Given the description of an element on the screen output the (x, y) to click on. 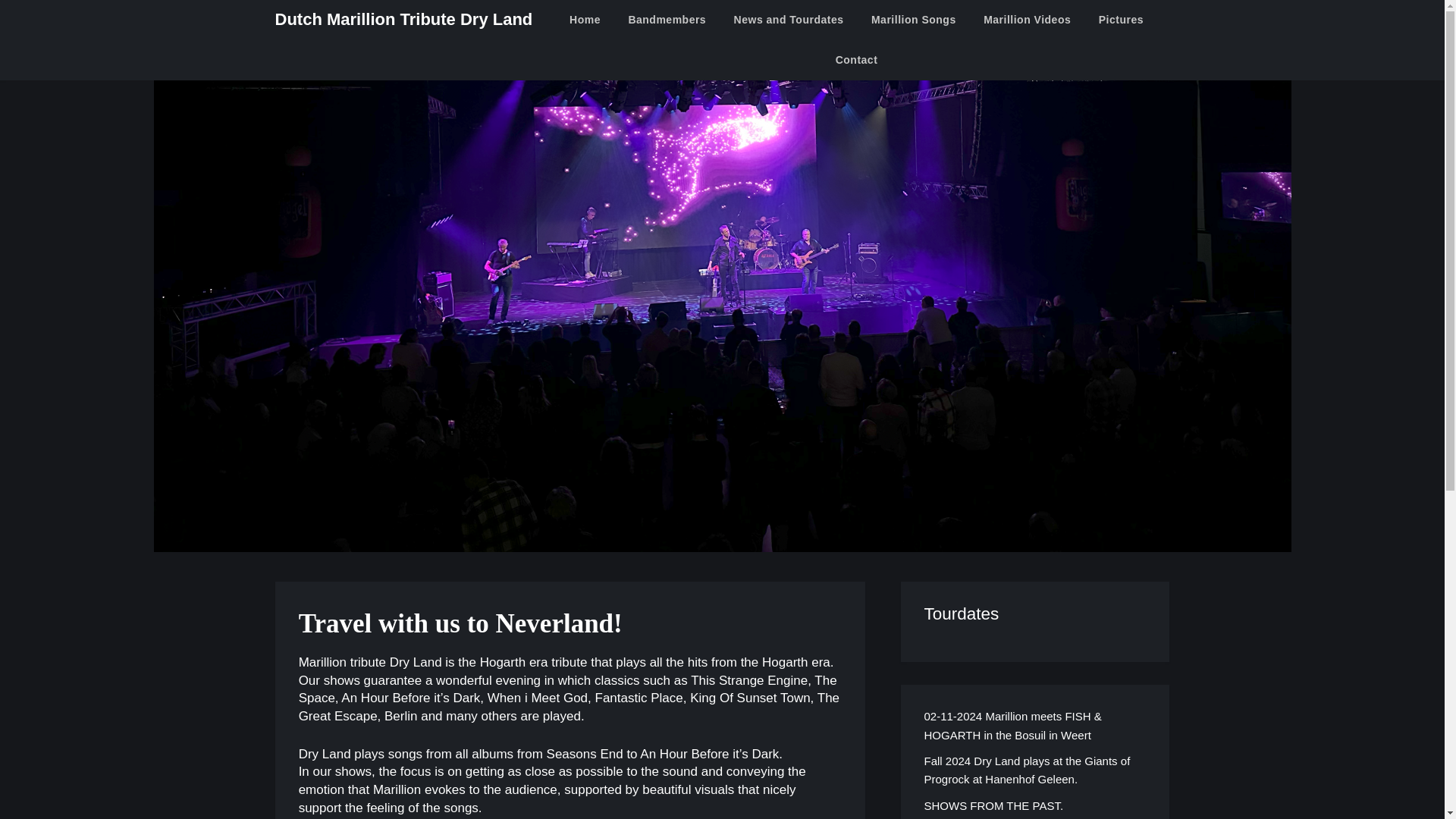
Home (584, 20)
Pictures (1121, 20)
Marillion Videos (1027, 20)
Dutch Marillion Tribute Dry Land (403, 19)
News and Tourdates (789, 20)
Bandmembers (666, 20)
SHOWS FROM THE PAST. (992, 805)
Contact (856, 60)
Marillion Songs (913, 20)
